Given the description of an element on the screen output the (x, y) to click on. 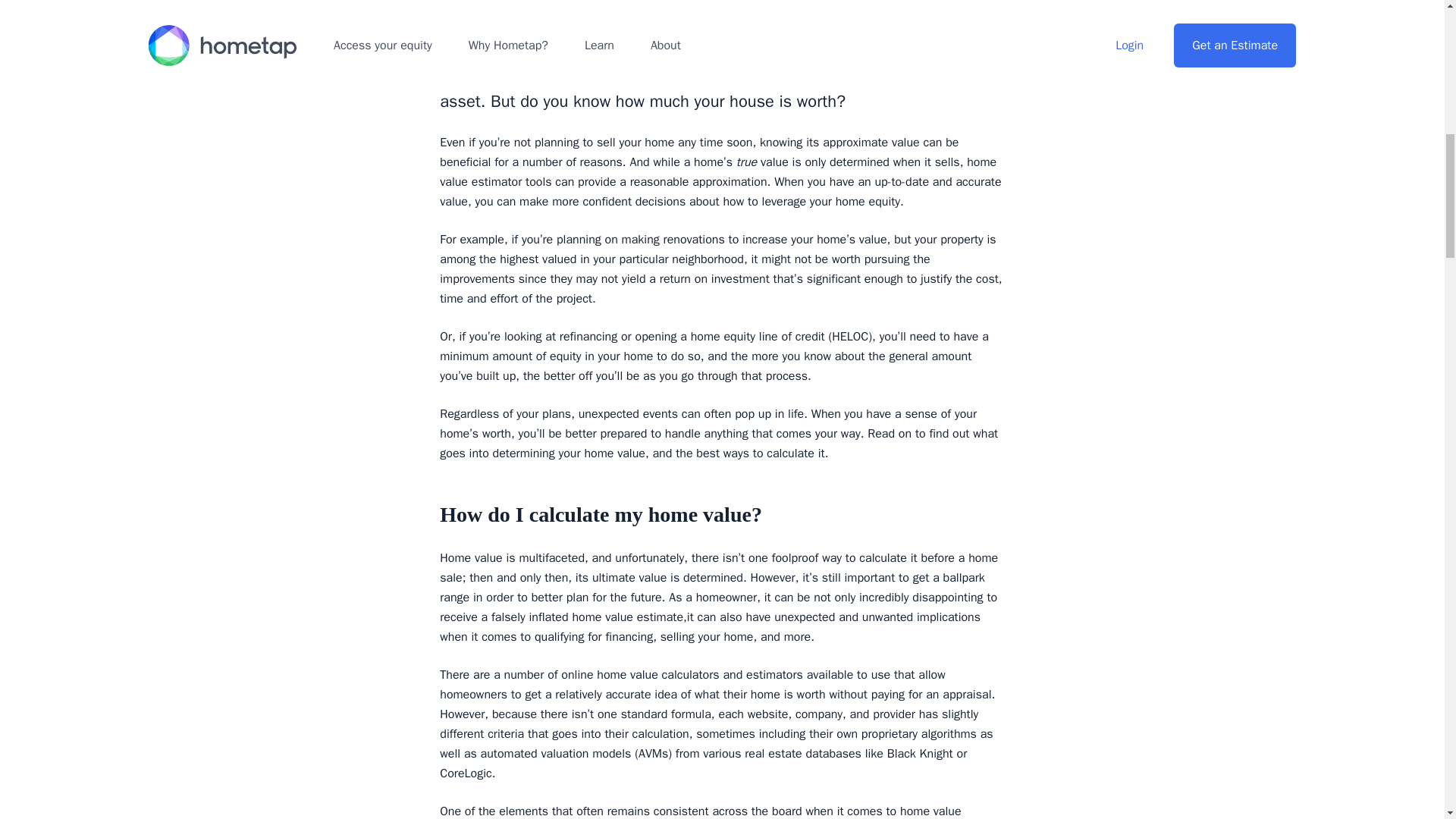
Tweet this post (950, 23)
Share this post on LinkedIn (910, 23)
Share this post on Facebook (869, 23)
Email a link to this post (991, 23)
